Given the description of an element on the screen output the (x, y) to click on. 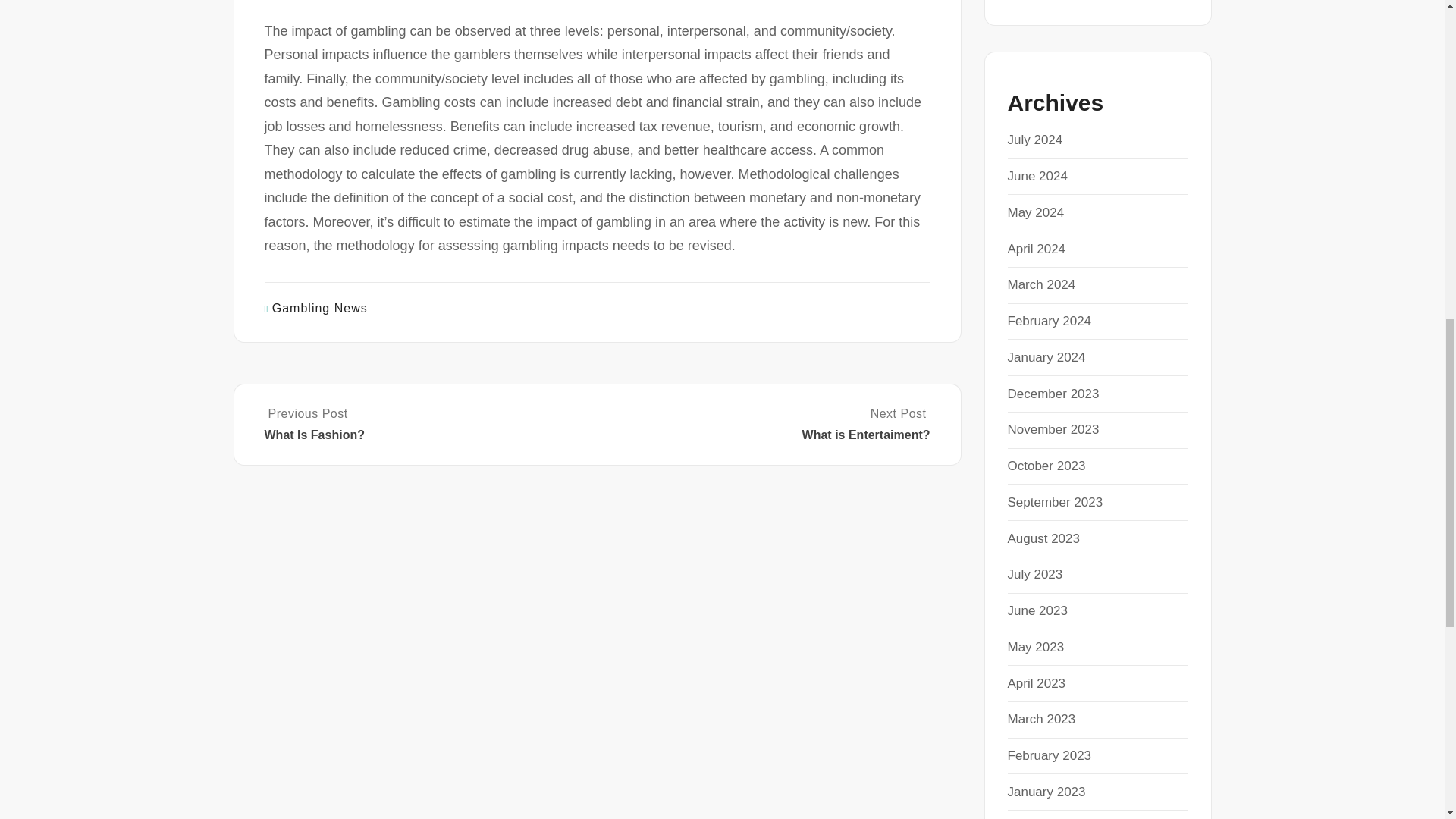
October 2023 (1045, 465)
February 2024 (1048, 320)
June 2024 (1037, 175)
May 2023 (1035, 646)
May 2024 (1035, 212)
April 2024 (1036, 248)
March 2023 (1041, 718)
April 2023 (1036, 683)
January 2023 (1045, 791)
September 2023 (1054, 502)
June 2023 (1037, 610)
January 2024 (1045, 357)
December 2023 (1053, 393)
July 2024 (1034, 139)
